Given the description of an element on the screen output the (x, y) to click on. 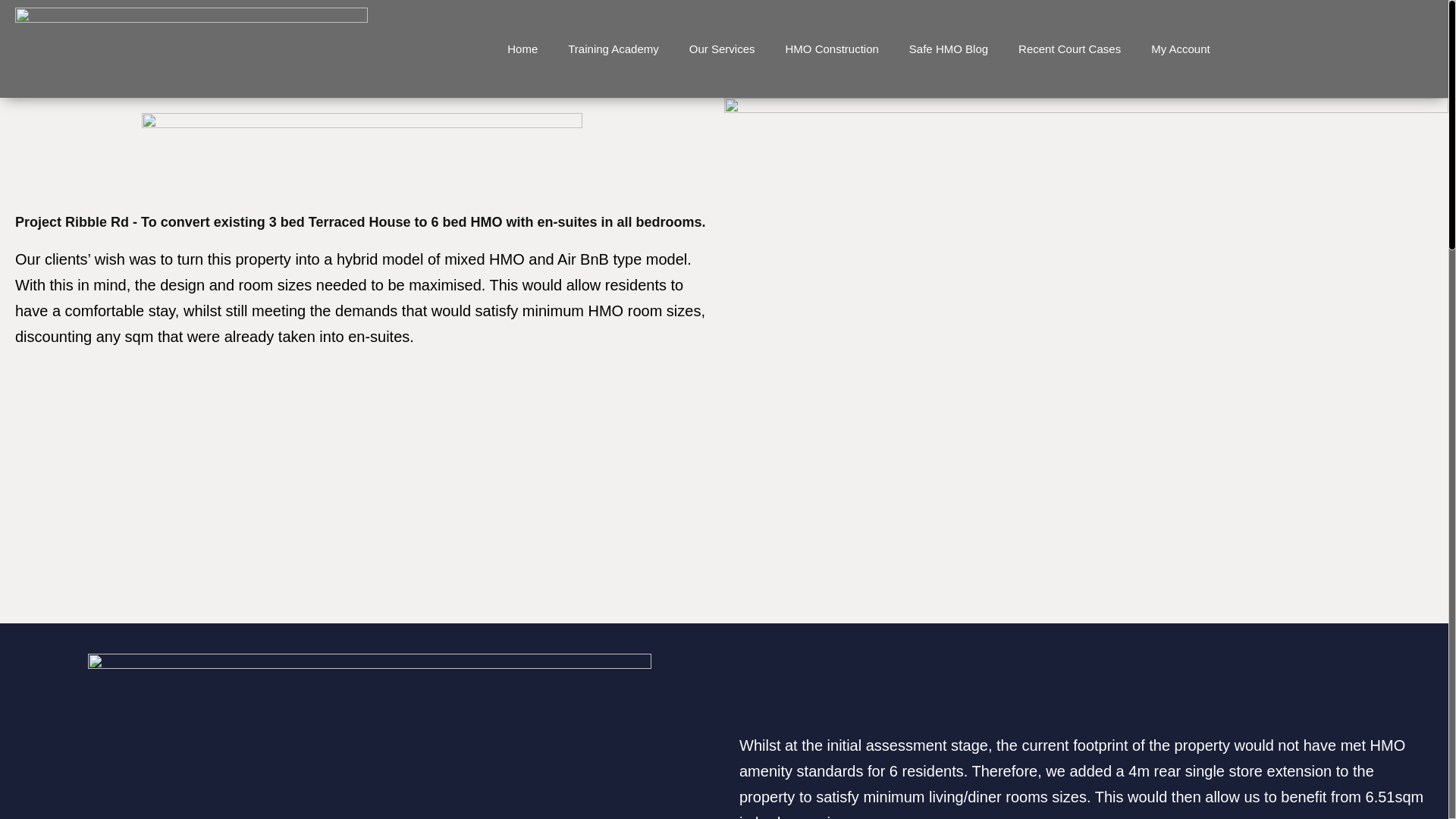
Training Academy (613, 48)
My Account (1180, 48)
Home of SafeHMO  (522, 48)
Recent Court Cases (1069, 48)
Our Services (722, 48)
HMO Construction (831, 48)
Safe HMO Blog (948, 48)
Home (522, 48)
